Given the description of an element on the screen output the (x, y) to click on. 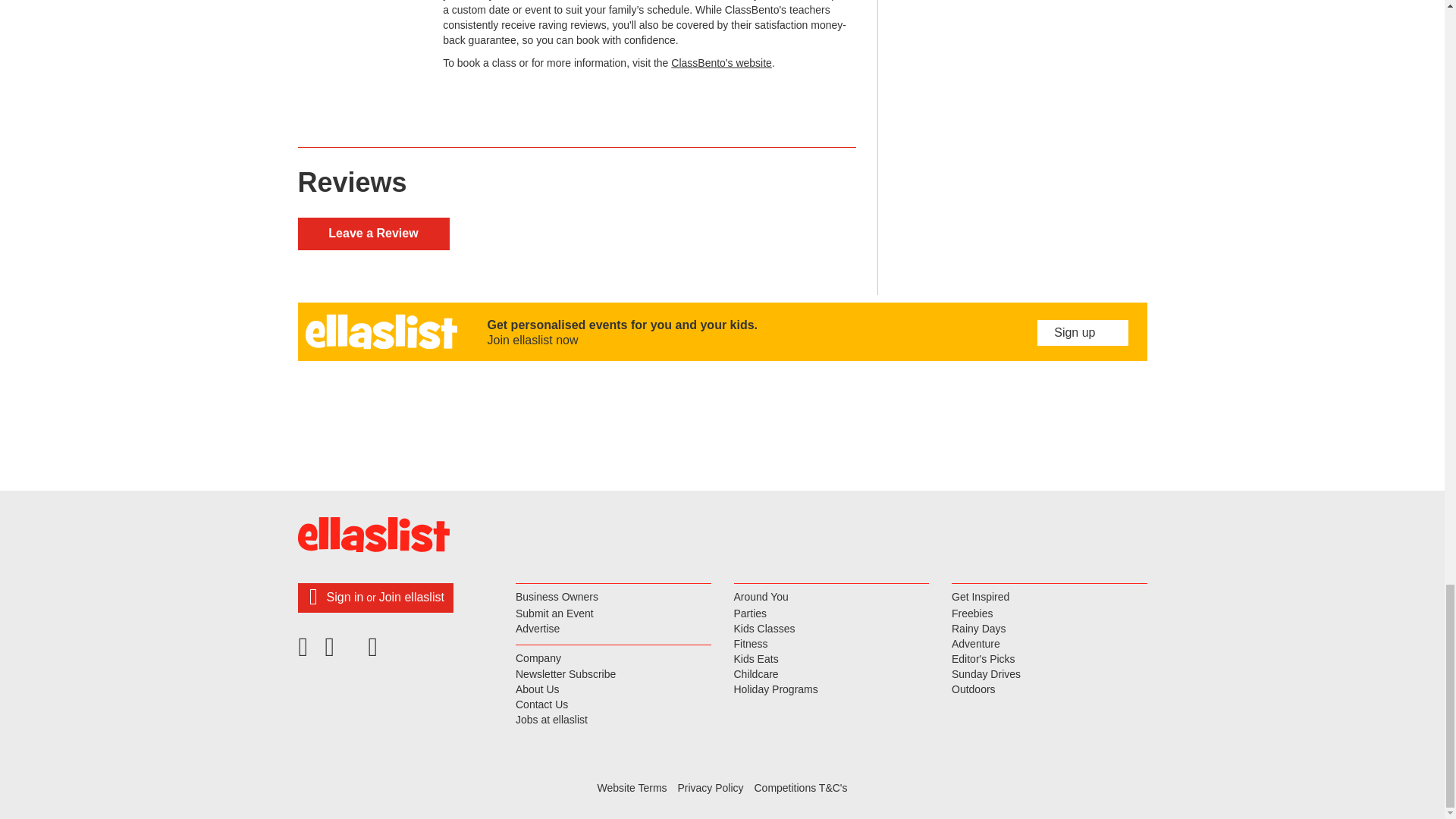
Instagram (375, 652)
Sign in (344, 596)
Submit an Event (613, 613)
About Us (613, 689)
Leave a Review (372, 233)
Join ellaslist (411, 596)
Newsletter Subscribe (613, 674)
Facebook (306, 652)
Advertise (613, 629)
Pinterest (341, 652)
Leave a Review (372, 233)
ClassBento's website (721, 62)
